Given the description of an element on the screen output the (x, y) to click on. 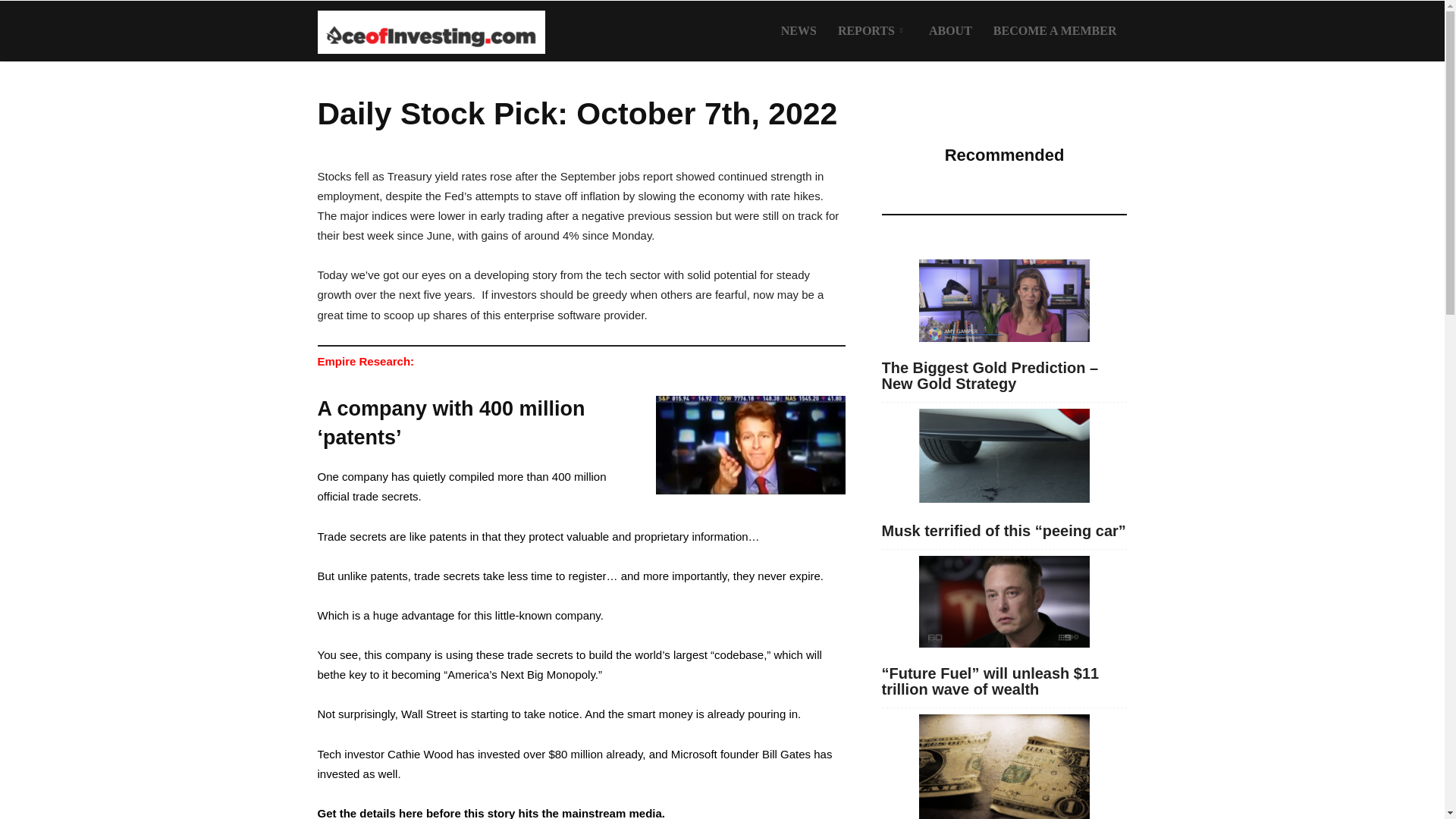
NEWS (798, 30)
REPORTS (872, 30)
ABOUT (950, 30)
Ace of Investing (430, 30)
BECOME A MEMBER (1054, 30)
